Given the description of an element on the screen output the (x, y) to click on. 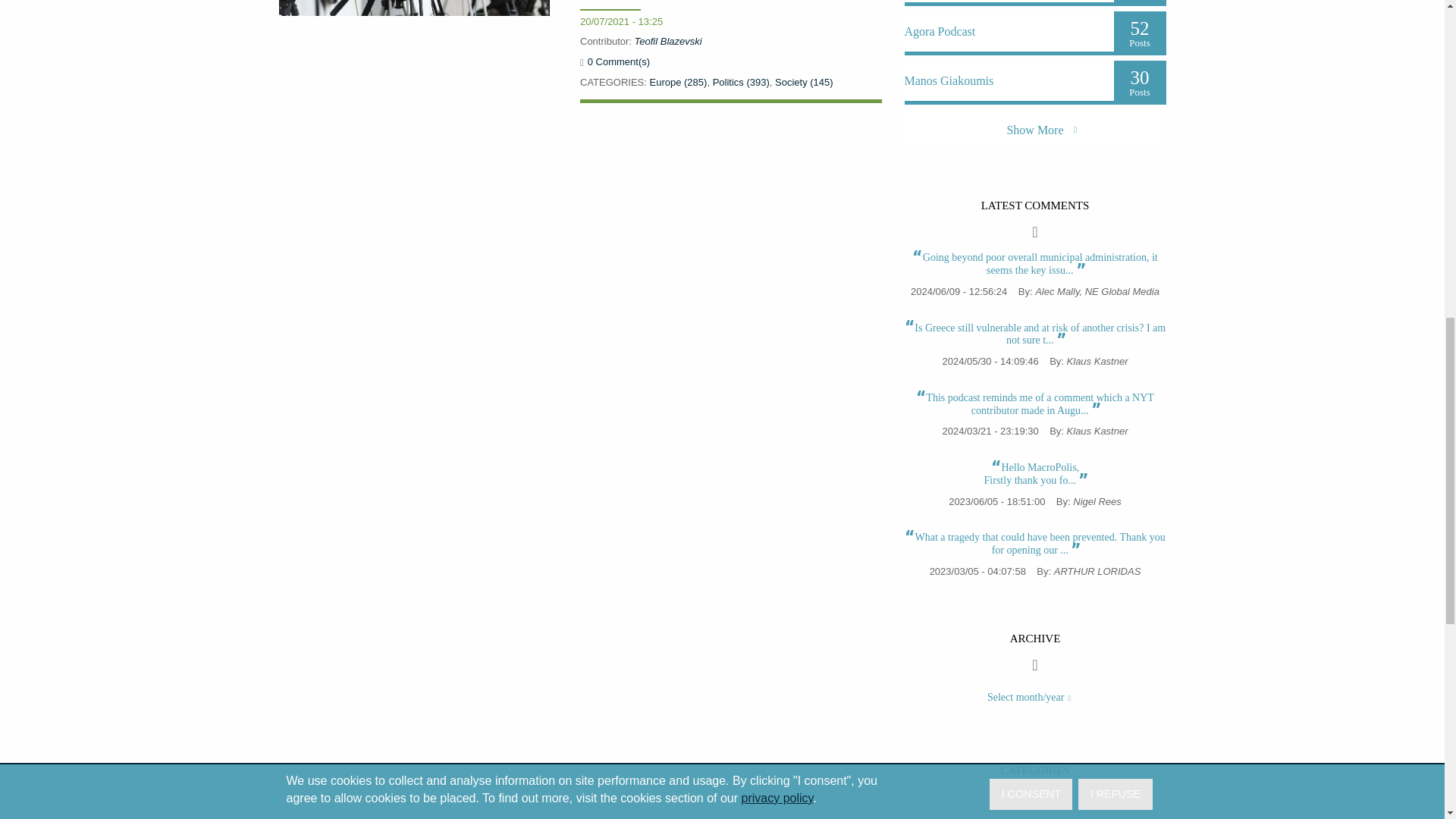
Politics (741, 81)
0 Comments Available (618, 61)
Teofil Blazevski (667, 41)
Europe (677, 81)
Teofil Blazevski (667, 41)
